Given the description of an element on the screen output the (x, y) to click on. 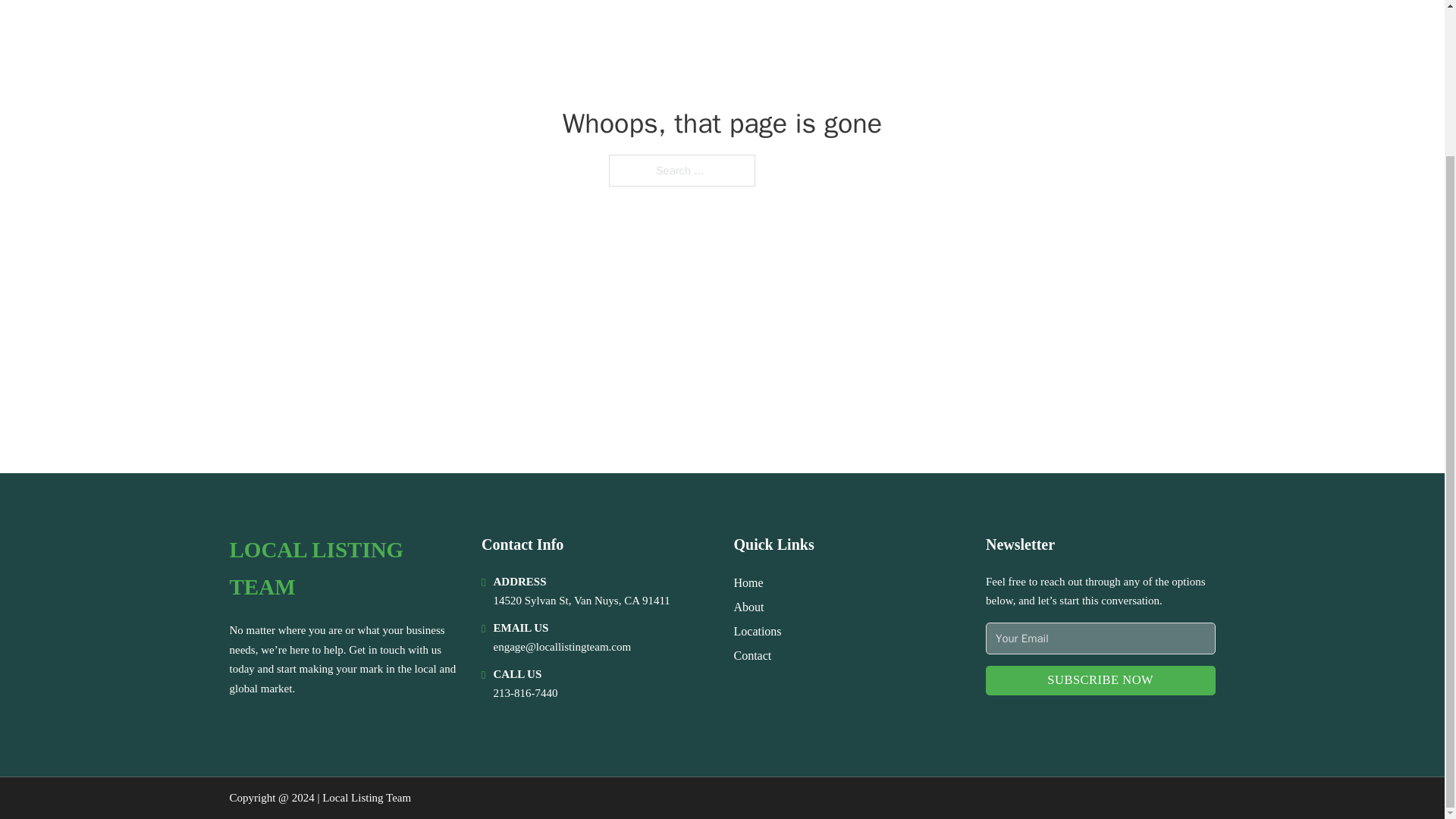
Locations (757, 630)
SUBSCRIBE NOW (1100, 680)
Home (747, 582)
Contact (752, 655)
213-816-7440 (525, 693)
About (748, 607)
LOCAL LISTING TEAM (343, 568)
